Given the description of an element on the screen output the (x, y) to click on. 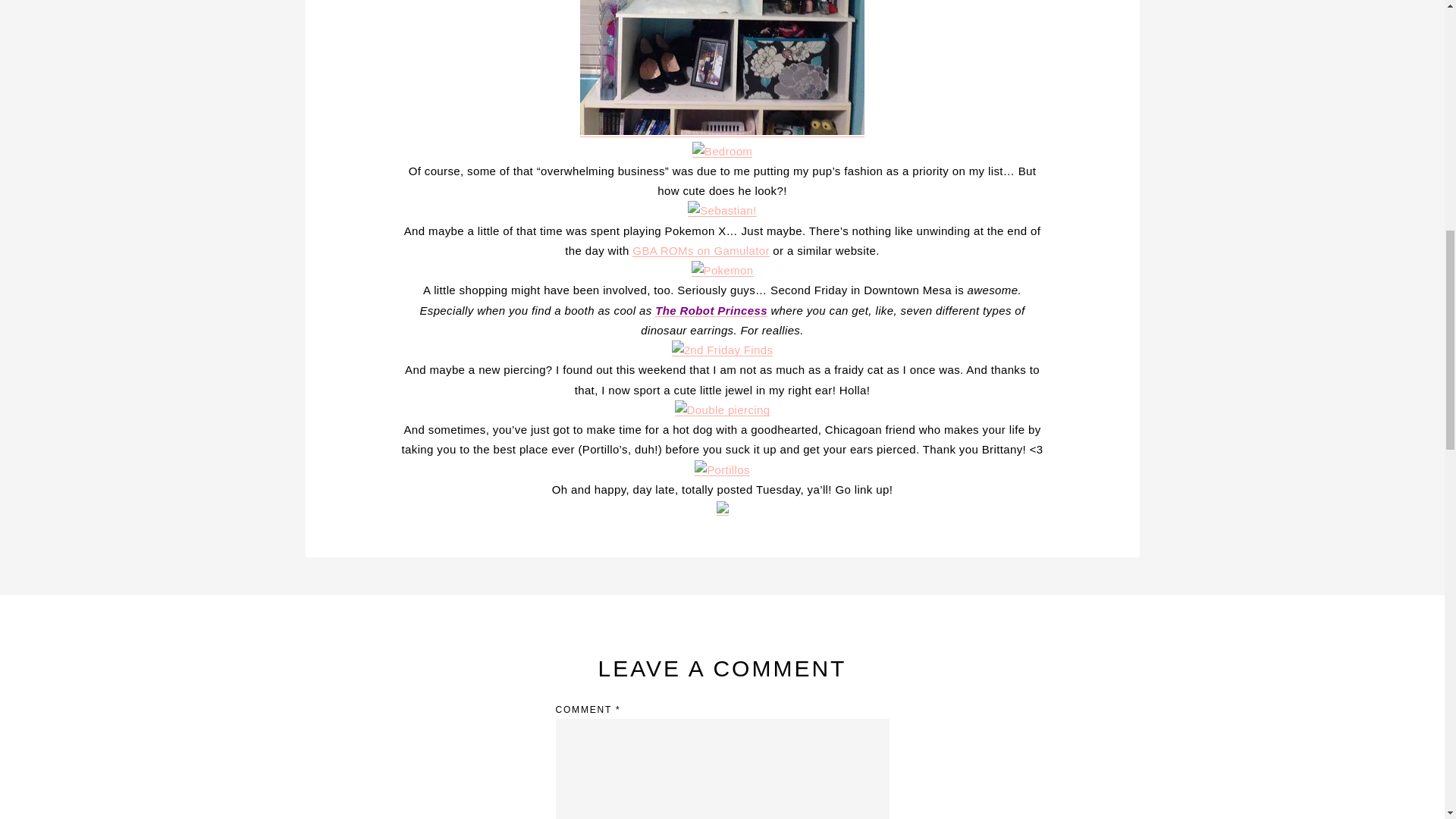
IASW Wall by sincerelydanirose, on Flickr (721, 130)
Bedroom by sincerelydanirose, on Flickr (722, 151)
Sebastian! by sincerelydanirose, on Flickr (722, 210)
Portillos by sincerelydanirose, on Flickr (721, 469)
Pokemon by sincerelydanirose, on Flickr (722, 269)
The Robot Princess (711, 309)
2nd Friday Finds by sincerelydanirose, on Flickr (722, 349)
Double piercing by sincerelydanirose, on Flickr (722, 409)
GBA ROMs on Gamulator (699, 250)
